Given the description of an element on the screen output the (x, y) to click on. 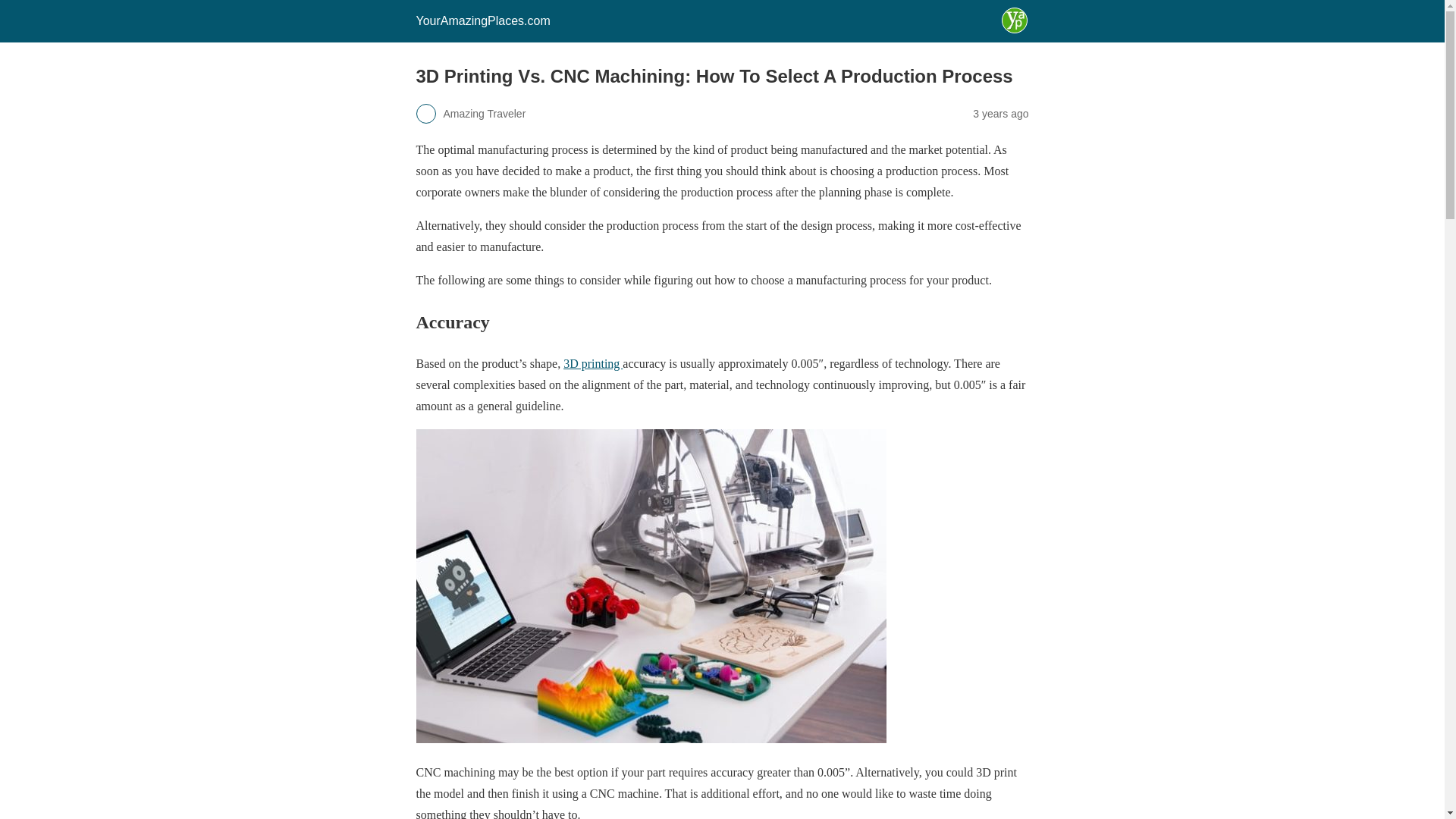
YourAmazingPlaces.com (482, 20)
3D printing (593, 363)
